Given the description of an element on the screen output the (x, y) to click on. 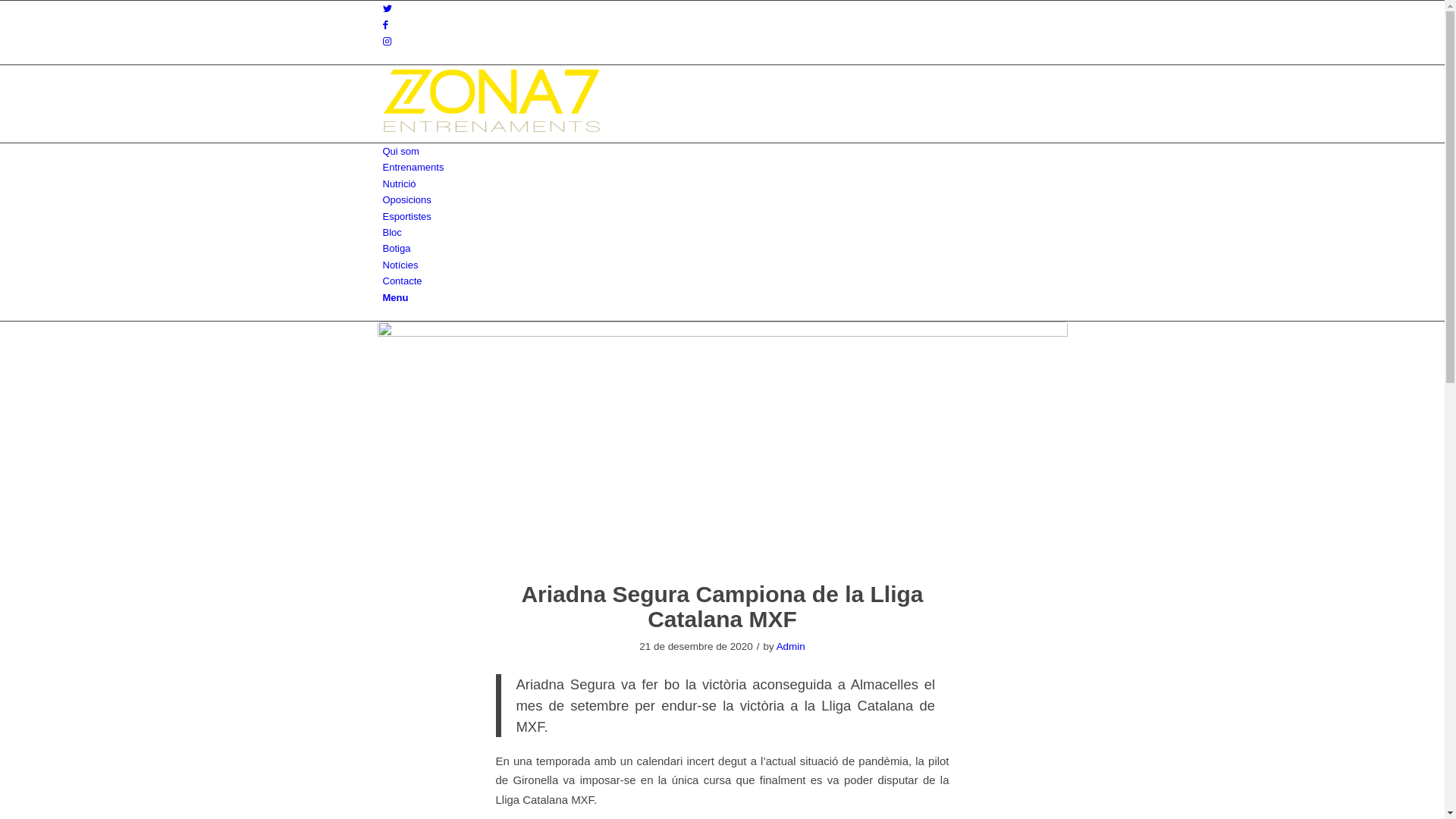
Menu Element type: text (394, 297)
Bloc Element type: text (391, 232)
Twitter Element type: hover (386, 8)
Oposicions Element type: text (406, 199)
Contacte Element type: text (401, 280)
Esportistes Element type: text (406, 216)
Qui som Element type: text (400, 150)
Entrenaments Element type: text (412, 166)
Ariadna Segura Campiona de la Lliga Catalana MXF Element type: text (721, 606)
Botiga Element type: text (396, 248)
Ariadna Segura Element type: hover (722, 441)
Instagram Element type: hover (386, 41)
Admin Element type: text (790, 646)
Facebook Element type: hover (384, 24)
